Given the description of an element on the screen output the (x, y) to click on. 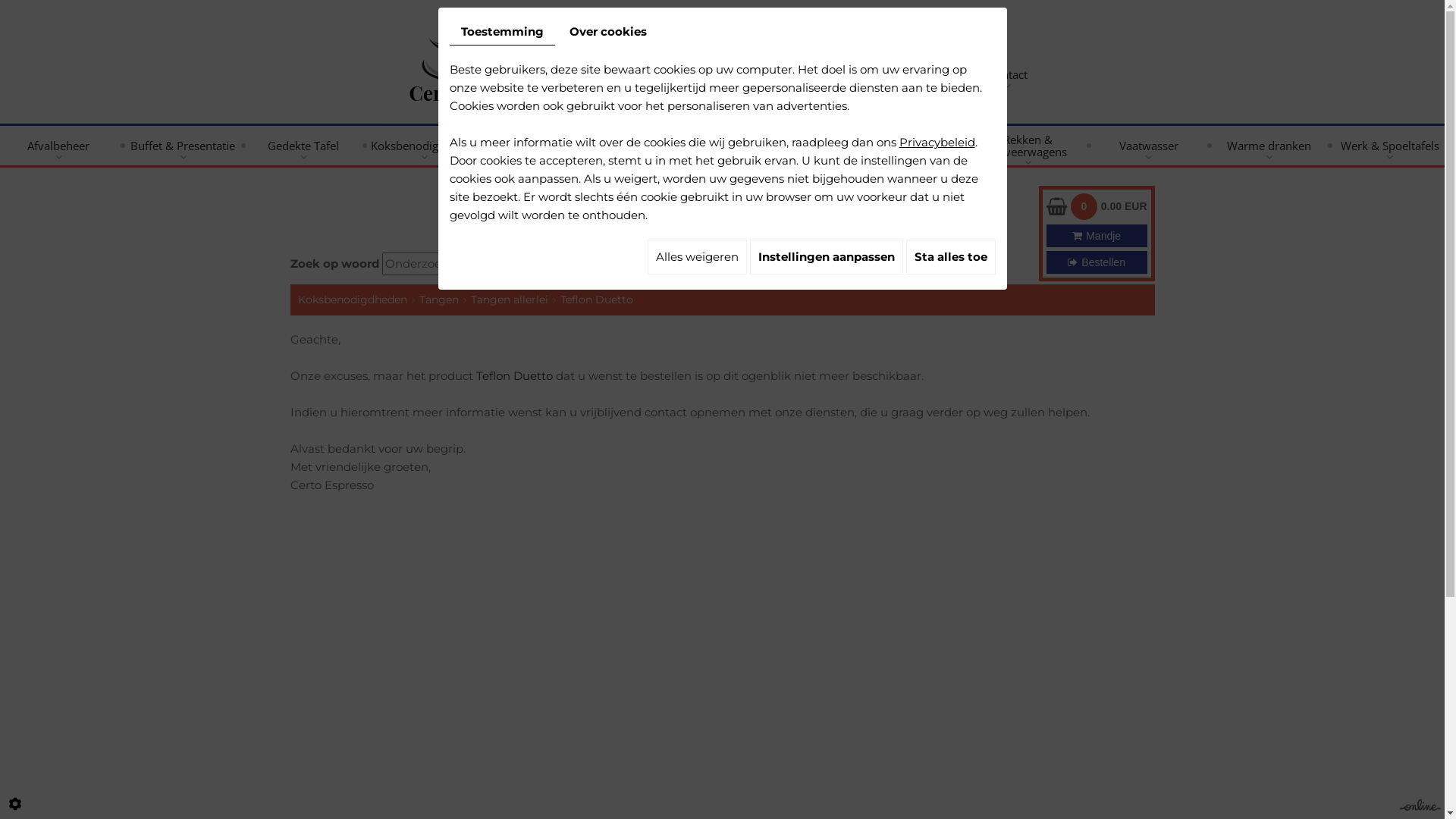
Bestellen Element type: text (1096, 261)
Tweedehands Element type: text (929, 74)
Alles weigeren Element type: text (696, 256)
Buffet & Presentatie Element type: text (182, 145)
Meubilair Element type: text (785, 145)
Koelen & Vriezen Element type: text (665, 145)
Tangen allerlei Element type: text (508, 299)
Mandje Element type: text (1096, 235)
Over cookies Element type: text (608, 31)
Koksbenodigdheden Element type: text (351, 299)
Rekken & Serveerwagens Element type: text (1027, 145)
Warme dranken Element type: text (1269, 145)
Contact Element type: text (1007, 74)
Werk & Spoeltafels Element type: text (1389, 145)
Privacybeleid Element type: text (937, 141)
Toestemming Element type: text (501, 31)
Gedekte Tafel Element type: text (302, 145)
Certo Espresso Element type: hover (458, 52)
Keukenapparatuur Element type: text (544, 145)
Potten & Pannen Element type: text (906, 145)
Instellingen aanpassen Element type: text (825, 256)
Cookie-instelling bewerken Element type: text (14, 803)
Home Element type: text (777, 74)
Tangen Element type: text (438, 299)
Koksbenodigdheden Element type: text (424, 145)
Vaatwasser Element type: text (1147, 145)
Afvalbeheer Element type: text (58, 145)
Promoties Element type: text (843, 74)
Voorleggen Element type: text (584, 263)
Sta alles toe Element type: text (949, 256)
